Given the description of an element on the screen output the (x, y) to click on. 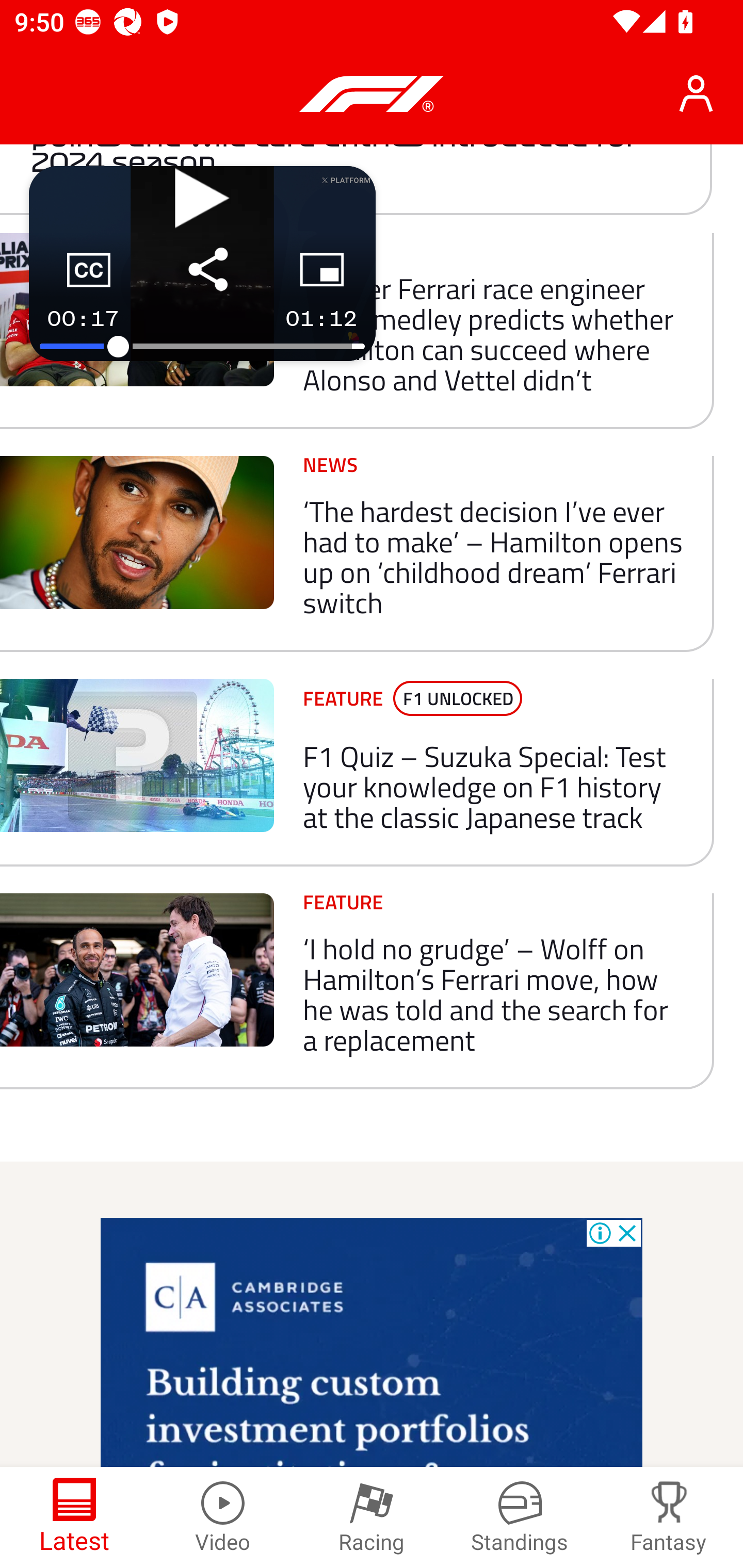
Video (222, 1517)
Racing (371, 1517)
Standings (519, 1517)
Fantasy (668, 1517)
